Given the description of an element on the screen output the (x, y) to click on. 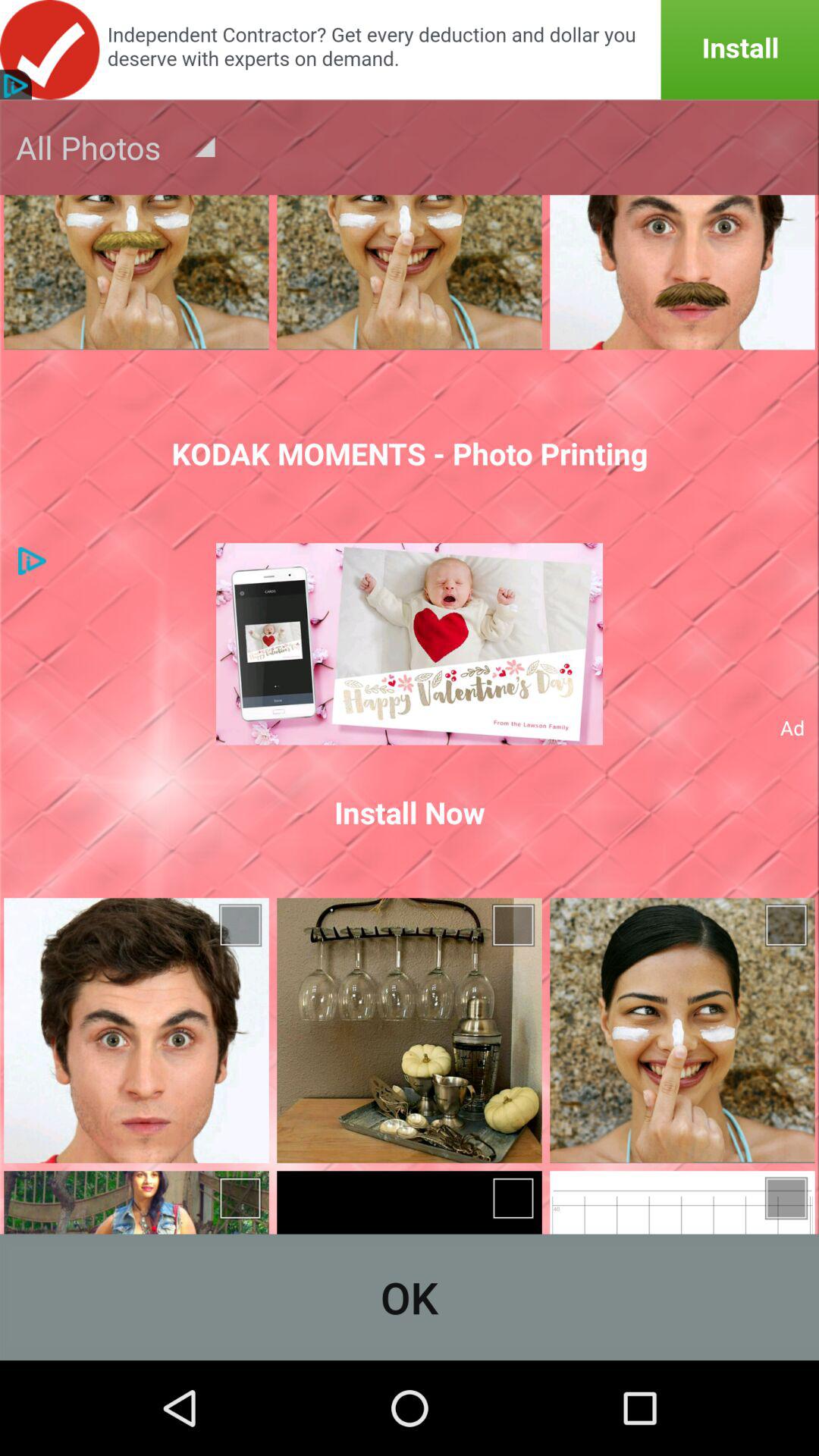
open ok icon (409, 1297)
